Given the description of an element on the screen output the (x, y) to click on. 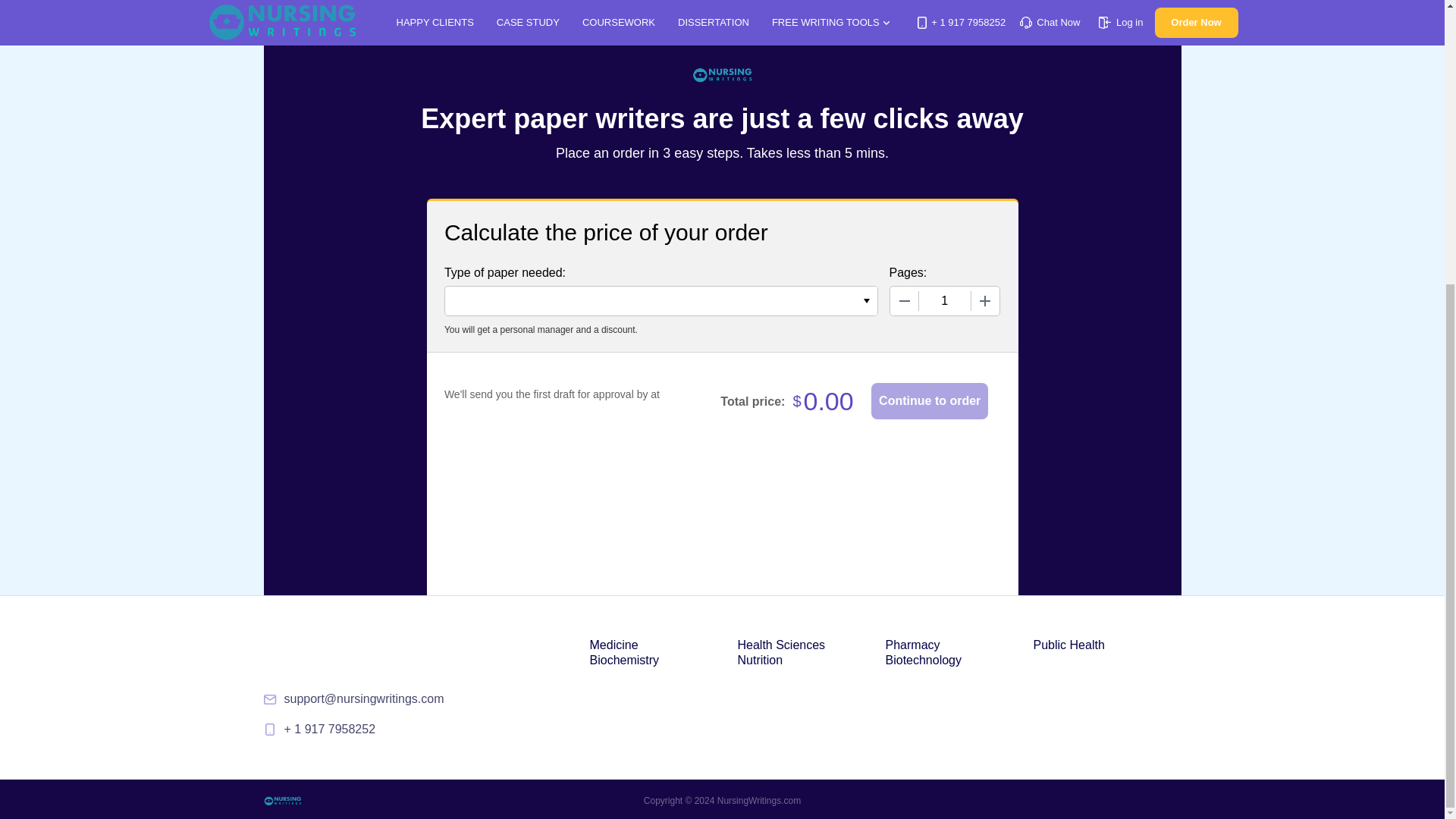
Increase (984, 300)
Health Sciences (780, 645)
Continue to order (929, 401)
Decrease (903, 300)
Biotechnology (923, 660)
Medicine (614, 645)
Continue to Order (929, 401)
Biochemistry (624, 660)
Nutrition (759, 660)
1 (944, 300)
